Given the description of an element on the screen output the (x, y) to click on. 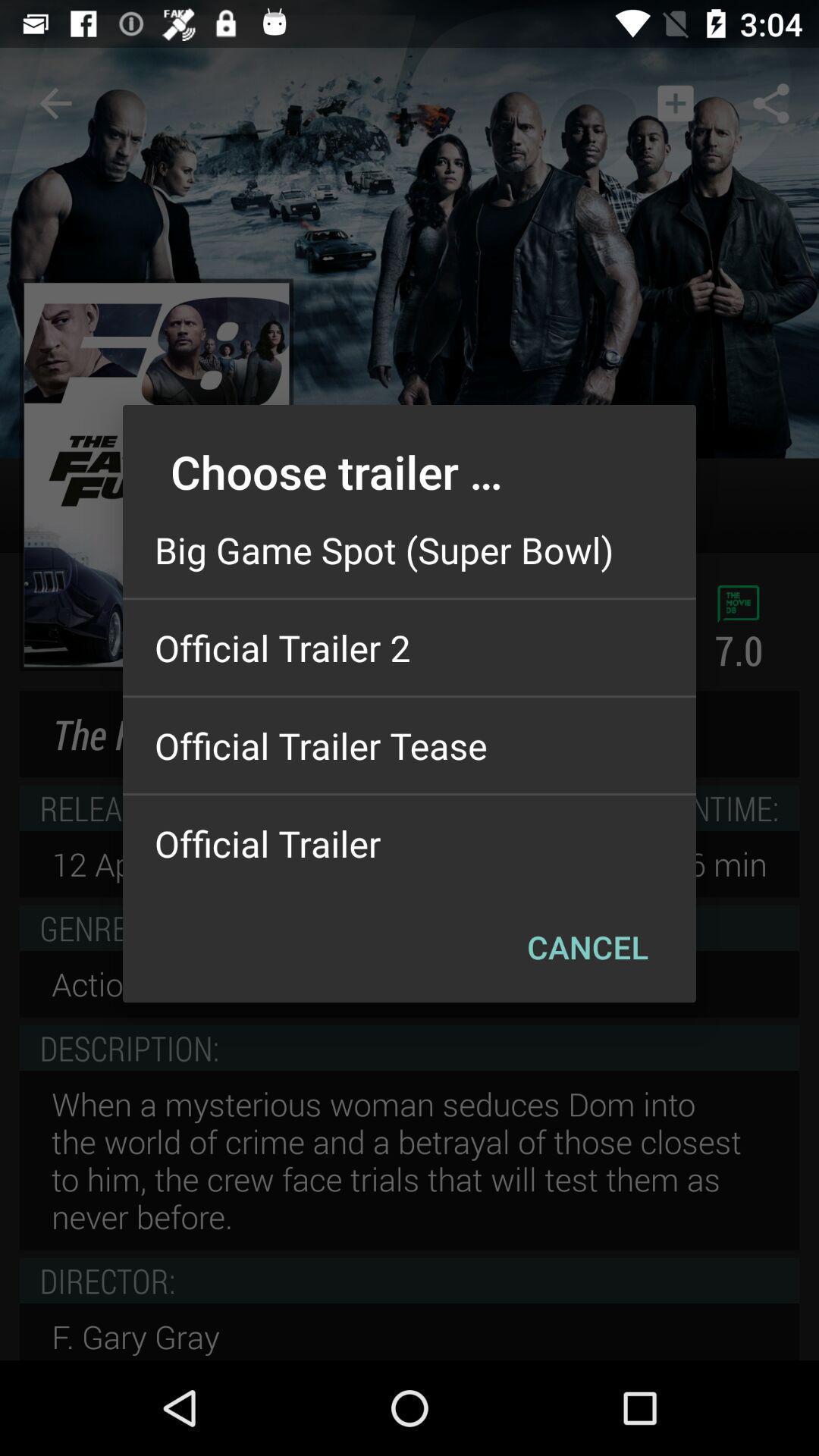
open icon above official trailer 2 icon (409, 549)
